Given the description of an element on the screen output the (x, y) to click on. 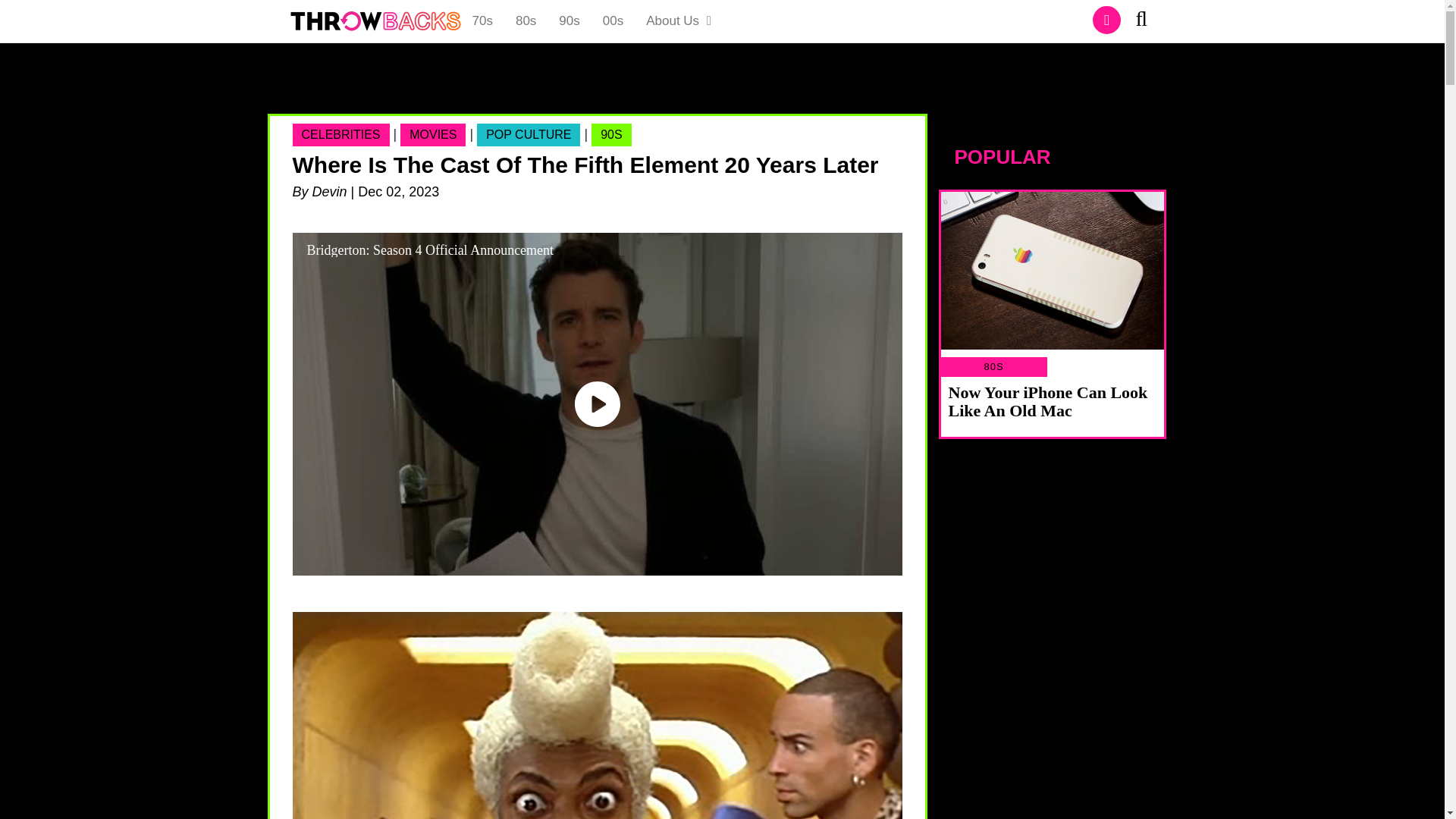
Devin's Profile (330, 191)
90S (610, 134)
MOVIES (432, 134)
90s (569, 21)
70s (482, 21)
facebook (1107, 19)
80s (525, 21)
00s (612, 21)
CELEBRITIES (341, 134)
